Given the description of an element on the screen output the (x, y) to click on. 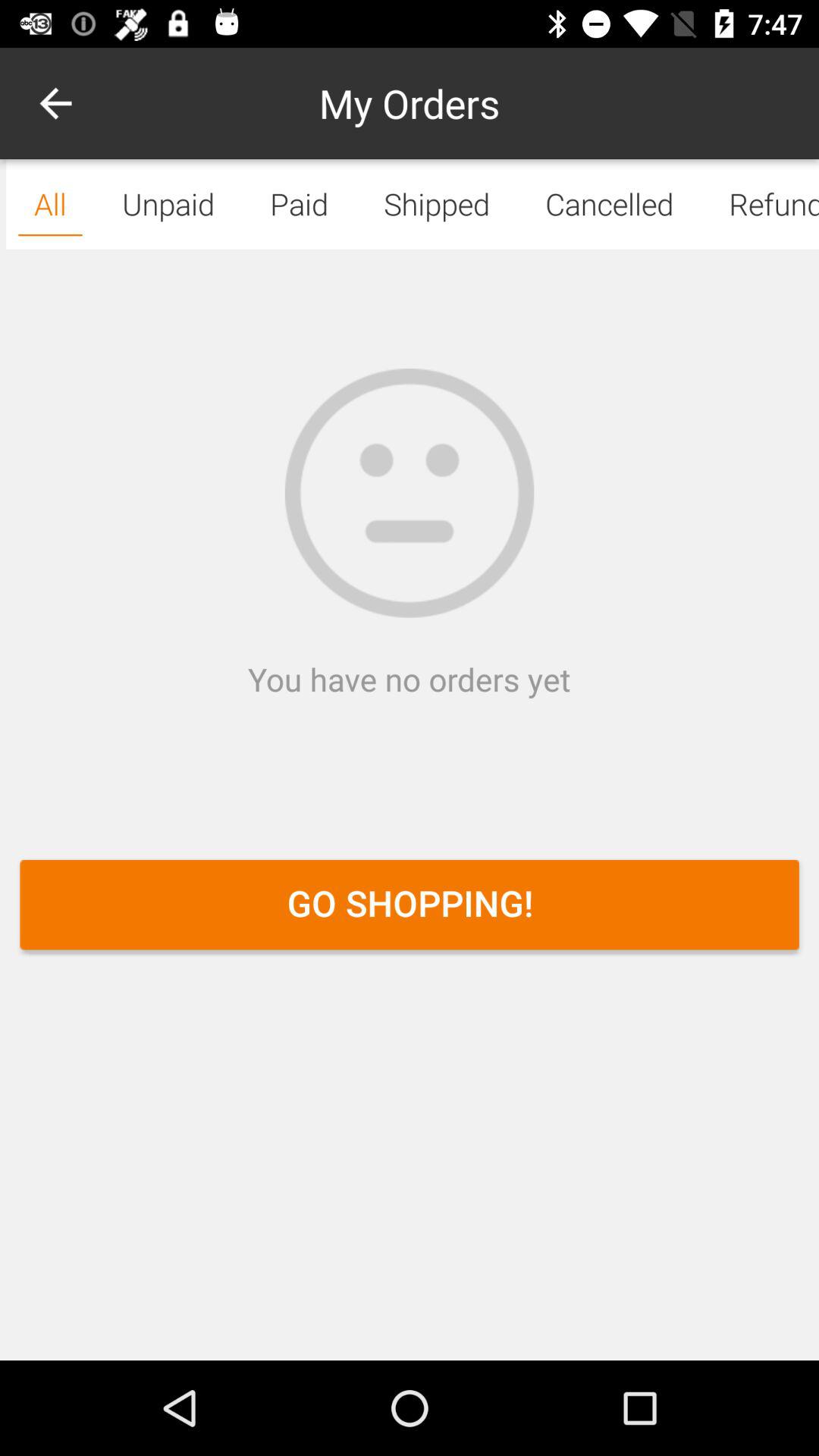
press icon below the you have no icon (409, 904)
